Given the description of an element on the screen output the (x, y) to click on. 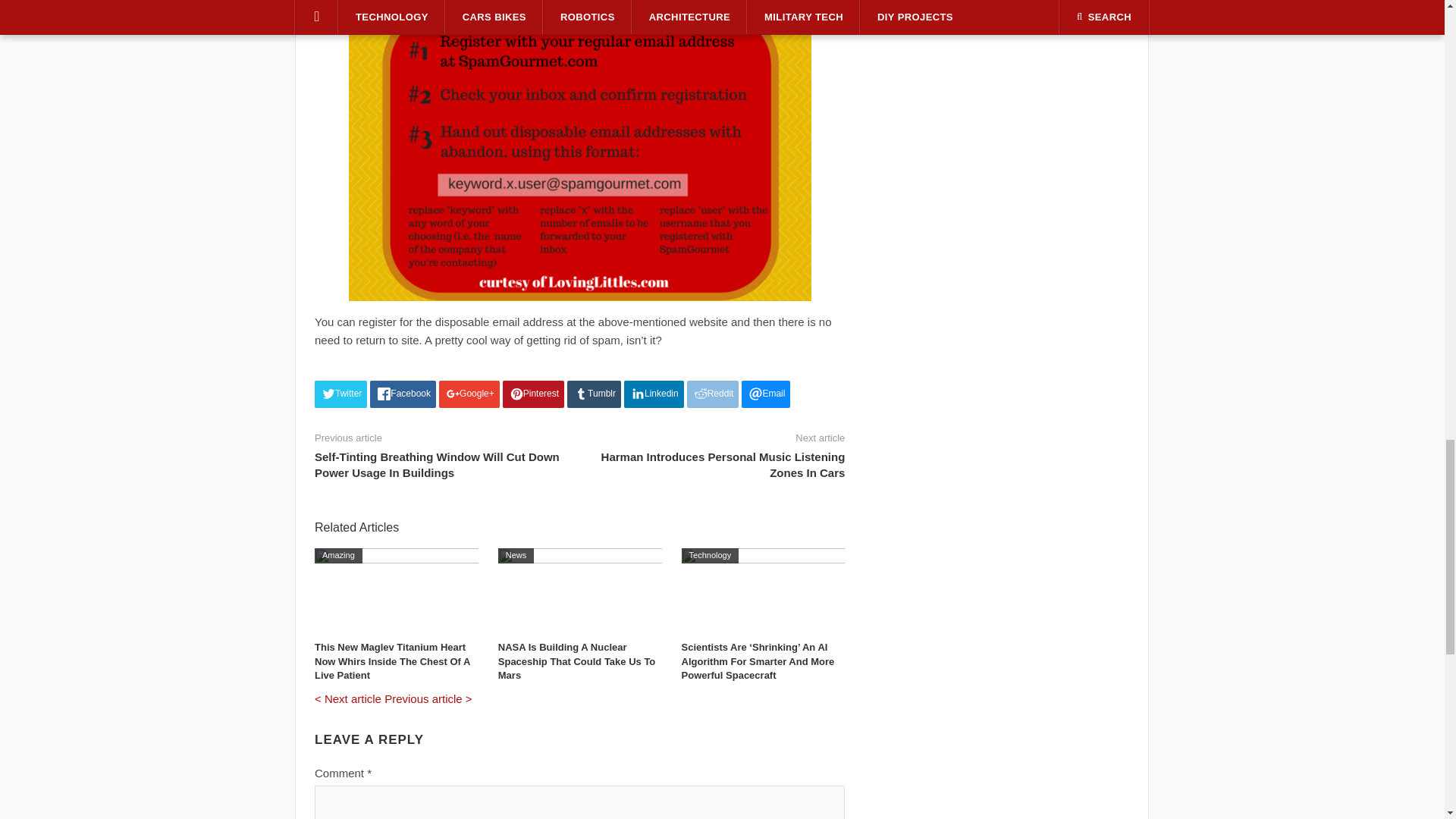
Facebook (402, 393)
Linkedin (654, 393)
Pinterest (533, 393)
Twitter (340, 393)
Tumblr (594, 393)
